Given the description of an element on the screen output the (x, y) to click on. 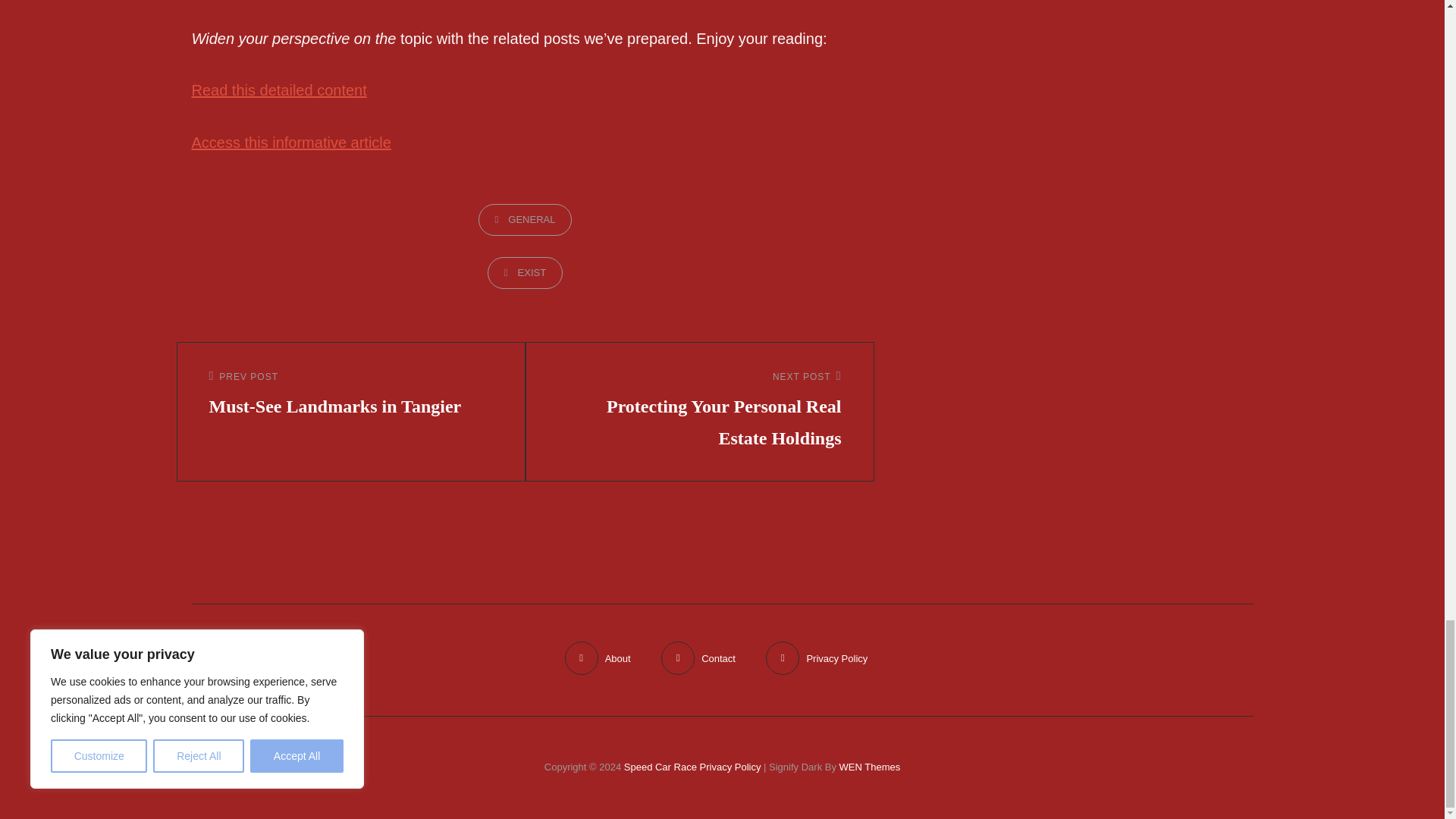
GENERAL (351, 395)
EXIST (525, 219)
Access this informative article (524, 273)
Read this detailed content (290, 142)
